Given the description of an element on the screen output the (x, y) to click on. 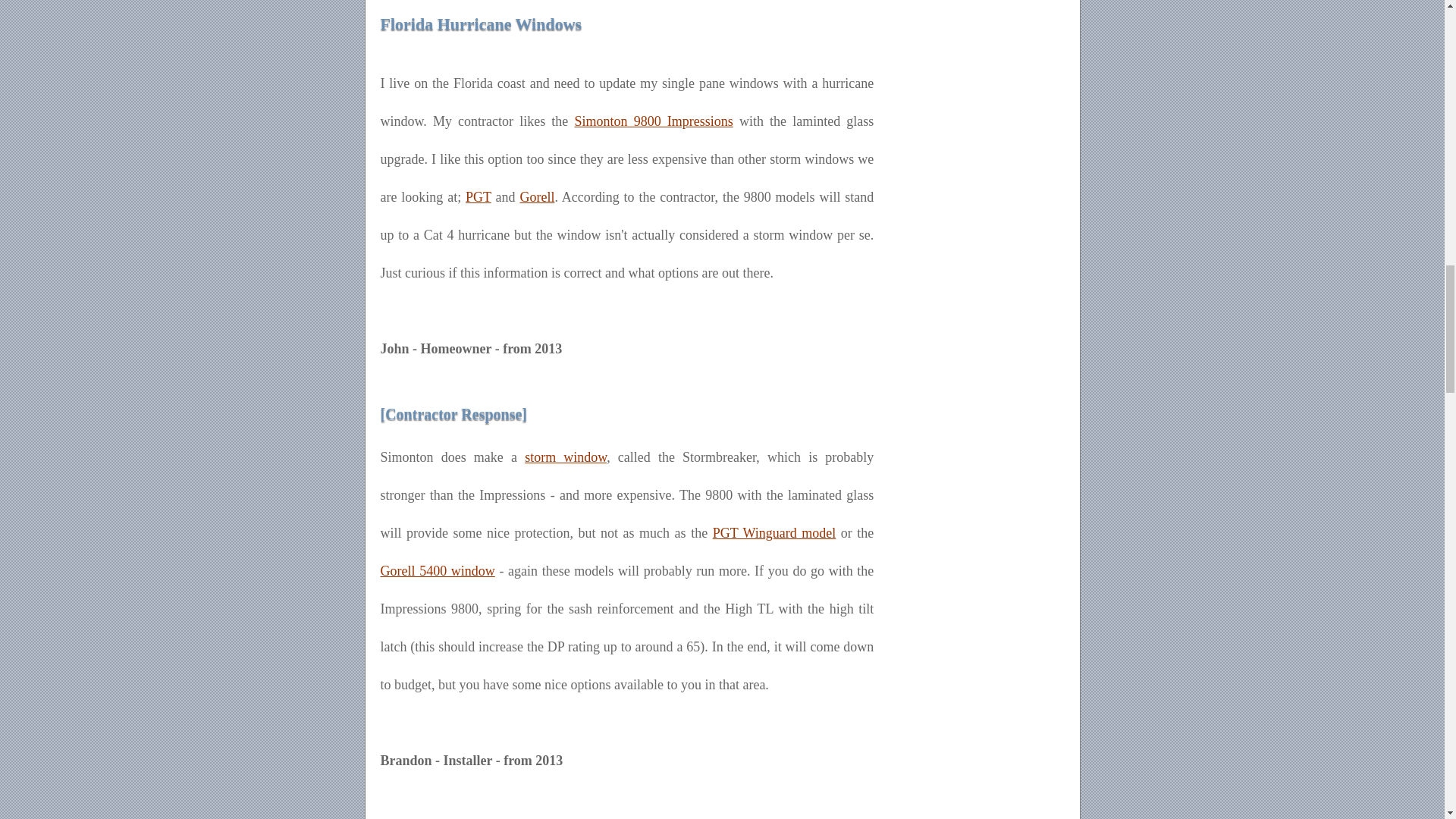
Simonton 9800 Impressions (652, 120)
Gorell (536, 196)
PGT Winguard model (774, 532)
PGT (478, 196)
storm window (565, 457)
Gorell 5400 window (437, 570)
